Given the description of an element on the screen output the (x, y) to click on. 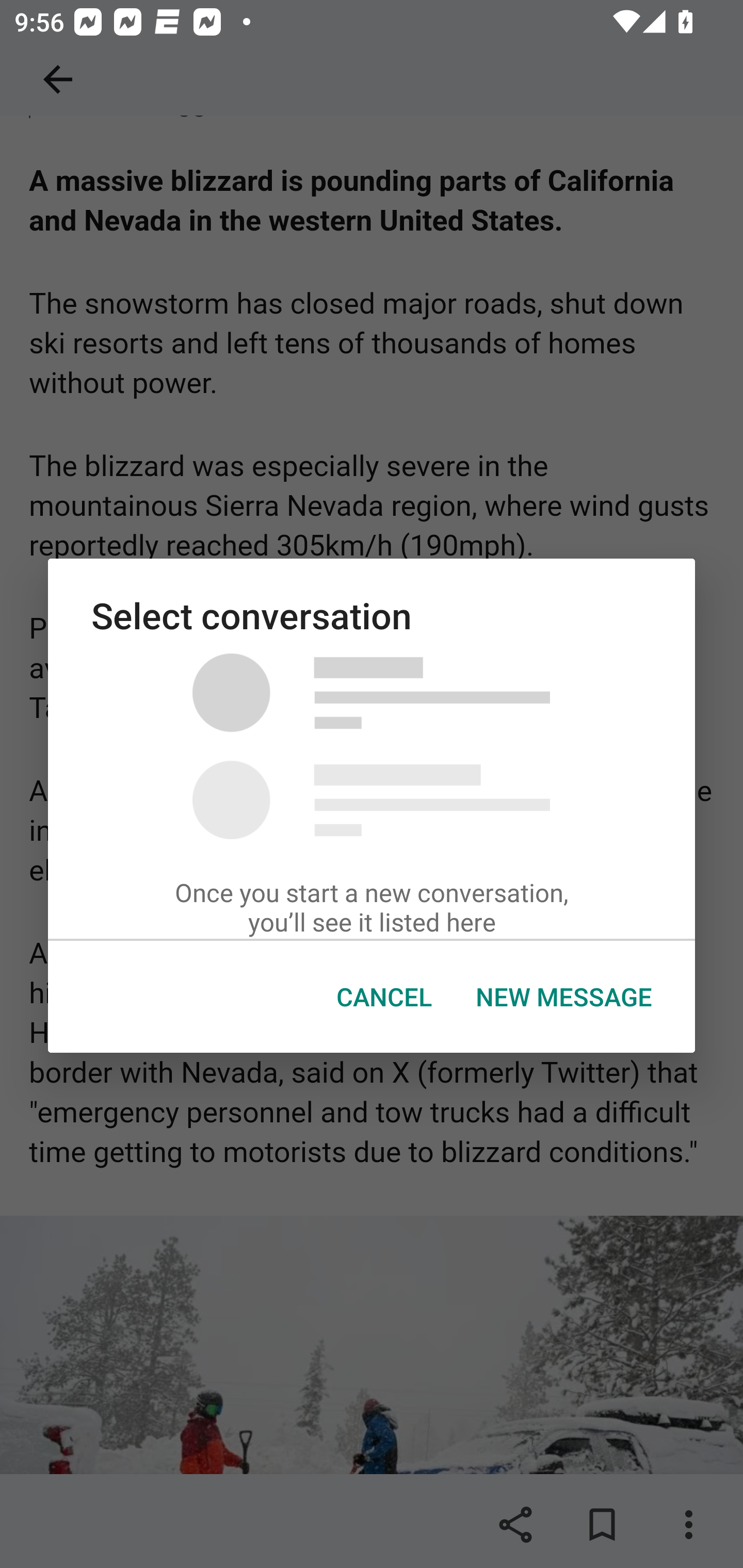
CANCEL (384, 996)
NEW MESSAGE (563, 996)
